Given the description of an element on the screen output the (x, y) to click on. 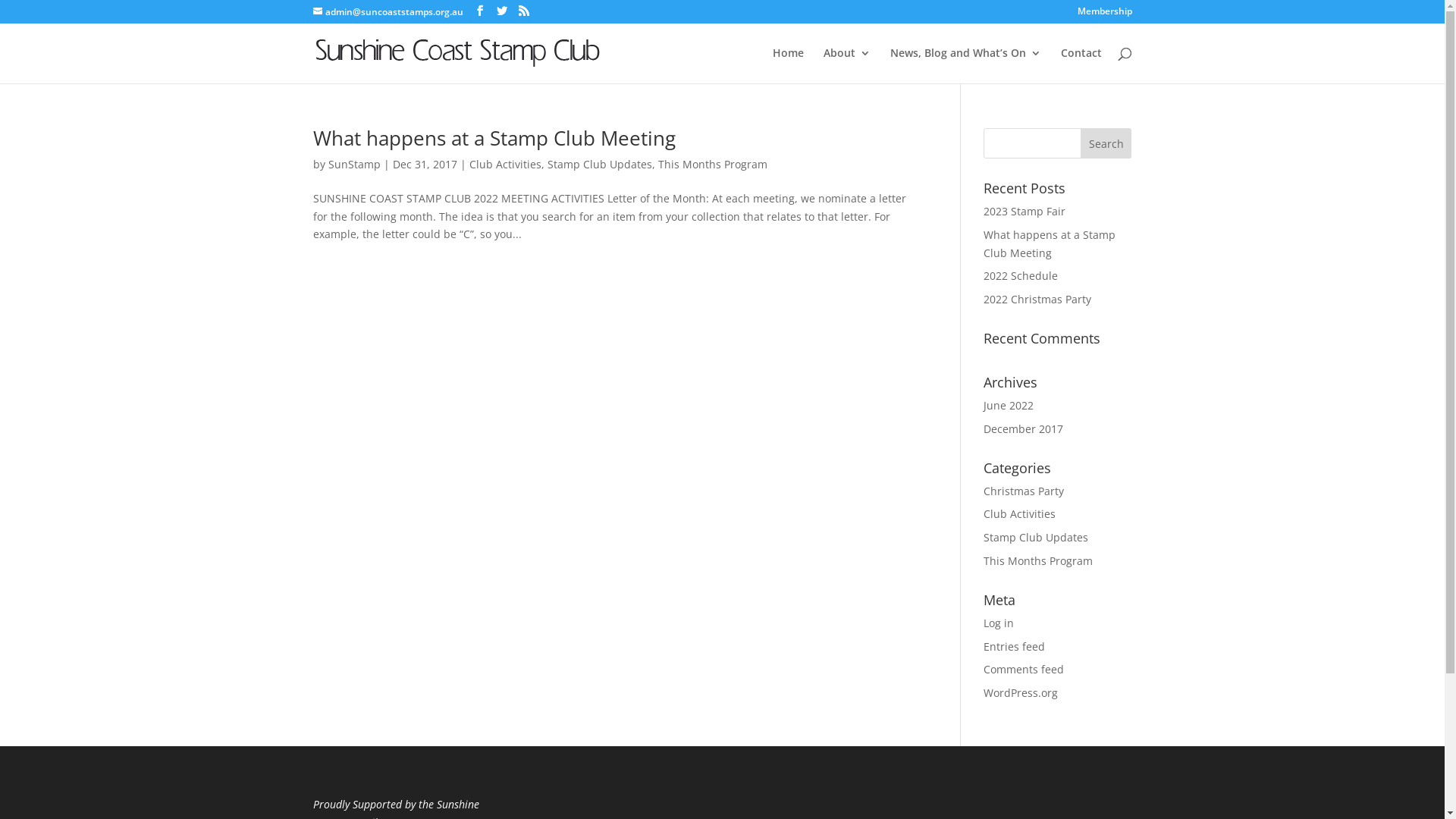
2022 Schedule Element type: text (1020, 275)
Club Activities Element type: text (1019, 513)
WordPress.org Element type: text (1020, 692)
Stamp Club Updates Element type: text (1035, 537)
Christmas Party Element type: text (1023, 490)
June 2022 Element type: text (1008, 405)
2022 Christmas Party Element type: text (1037, 298)
December 2017 Element type: text (1023, 428)
Stamp Club Updates Element type: text (599, 163)
Entries feed Element type: text (1013, 646)
Home Element type: text (787, 65)
What happens at a Stamp Club Meeting Element type: text (493, 137)
This Months Program Element type: text (712, 163)
Comments feed Element type: text (1023, 669)
Club Activities Element type: text (504, 163)
admin@suncoaststamps.org.au Element type: text (387, 11)
This Months Program Element type: text (1037, 560)
Search Element type: text (1106, 143)
About Element type: text (846, 65)
What happens at a Stamp Club Meeting Element type: text (1049, 243)
Contact Element type: text (1080, 65)
Membership Element type: text (1103, 14)
Log in Element type: text (998, 622)
SunStamp Element type: text (353, 163)
2023 Stamp Fair Element type: text (1024, 210)
